Given the description of an element on the screen output the (x, y) to click on. 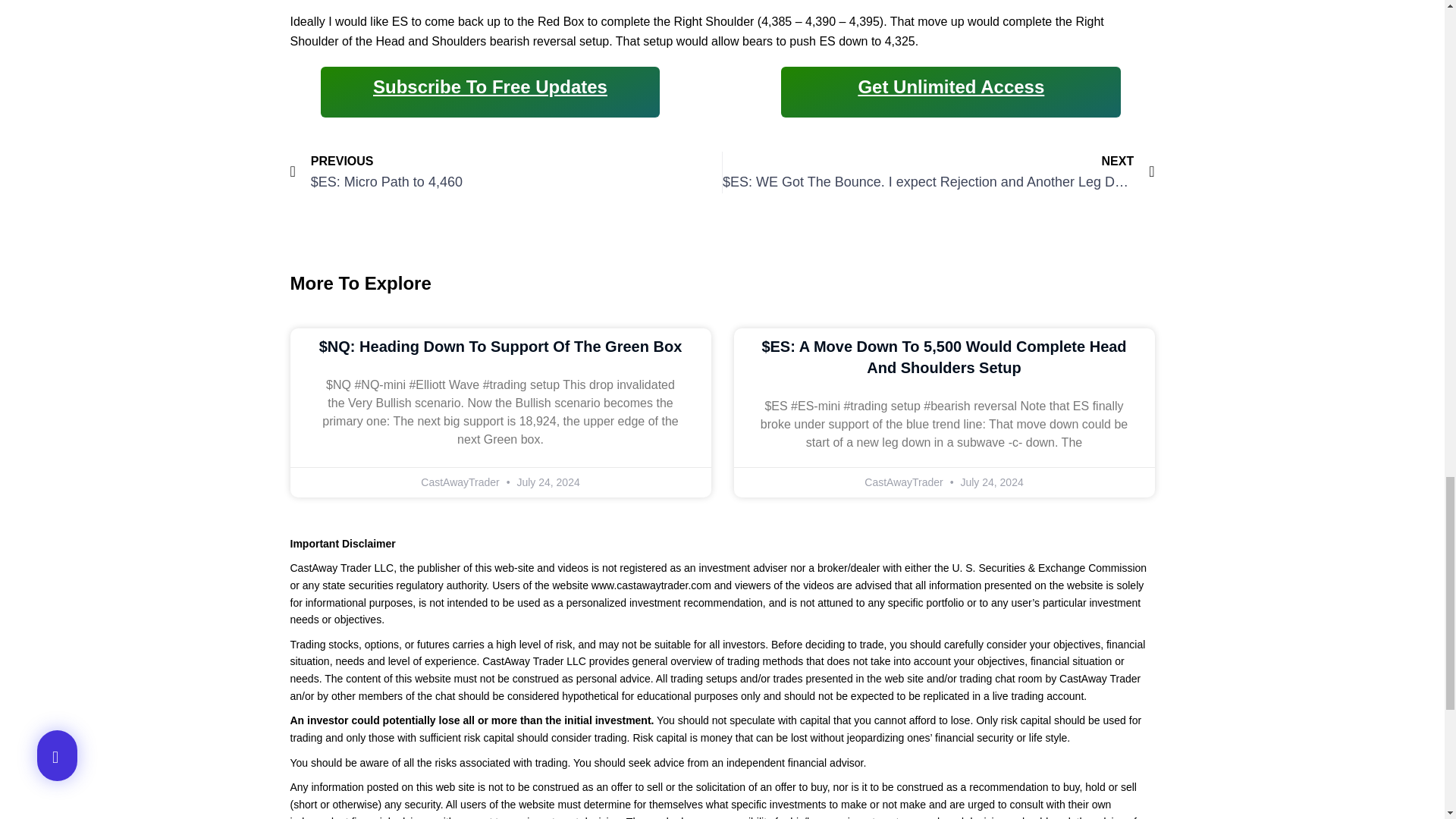
Get Unlimited Access (950, 86)
Subscribe To Free Updates (489, 86)
